Given the description of an element on the screen output the (x, y) to click on. 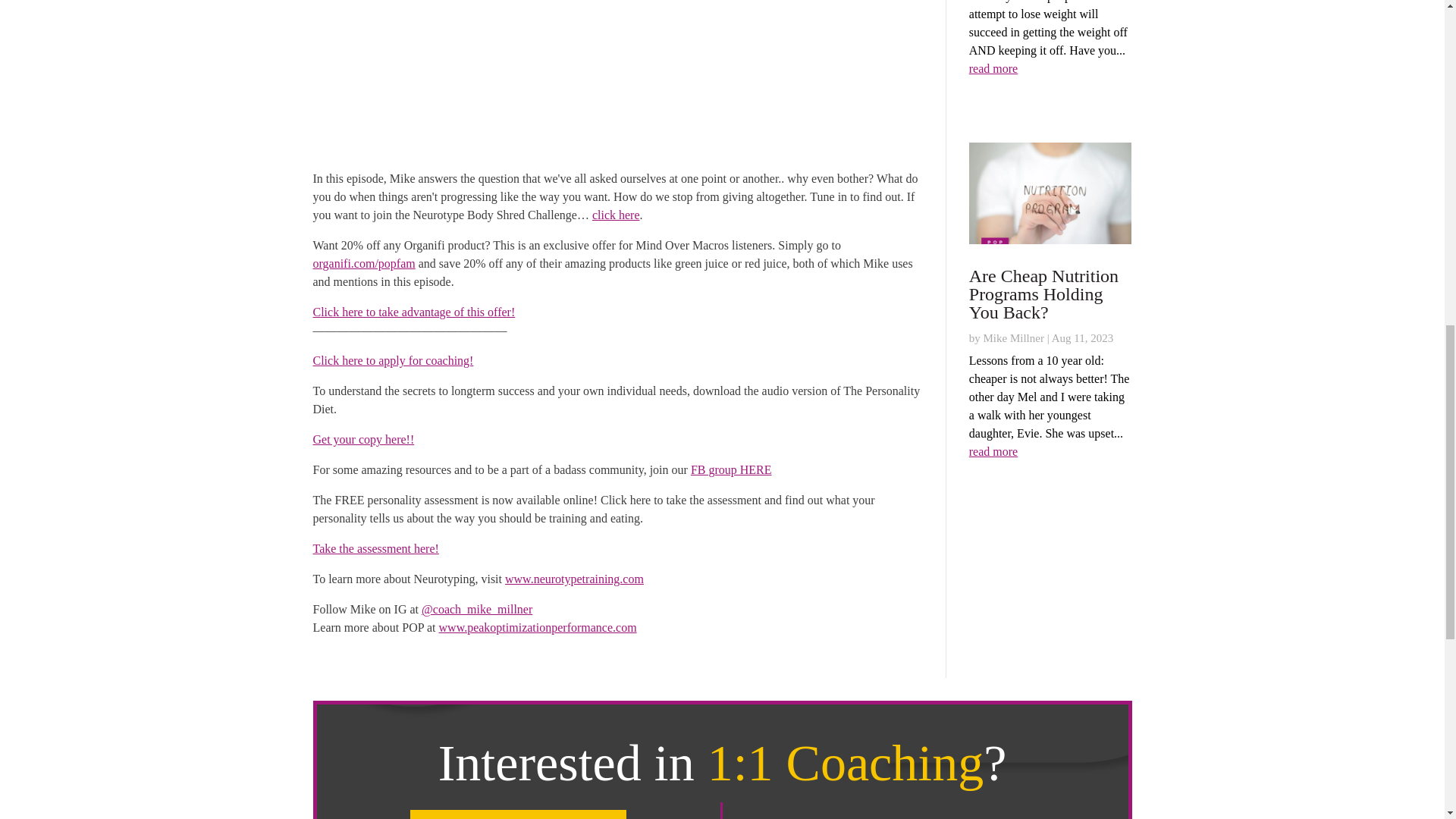
click here (616, 214)
Click here to take advantage of this offer! (414, 311)
Get your copy here!! (363, 439)
Take the assessment here! (375, 548)
www.neurotypetraining.com (574, 578)
Posts by Mike Millner (1013, 337)
Click here to apply for coaching! (393, 359)
FB group HERE (730, 469)
